Given the description of an element on the screen output the (x, y) to click on. 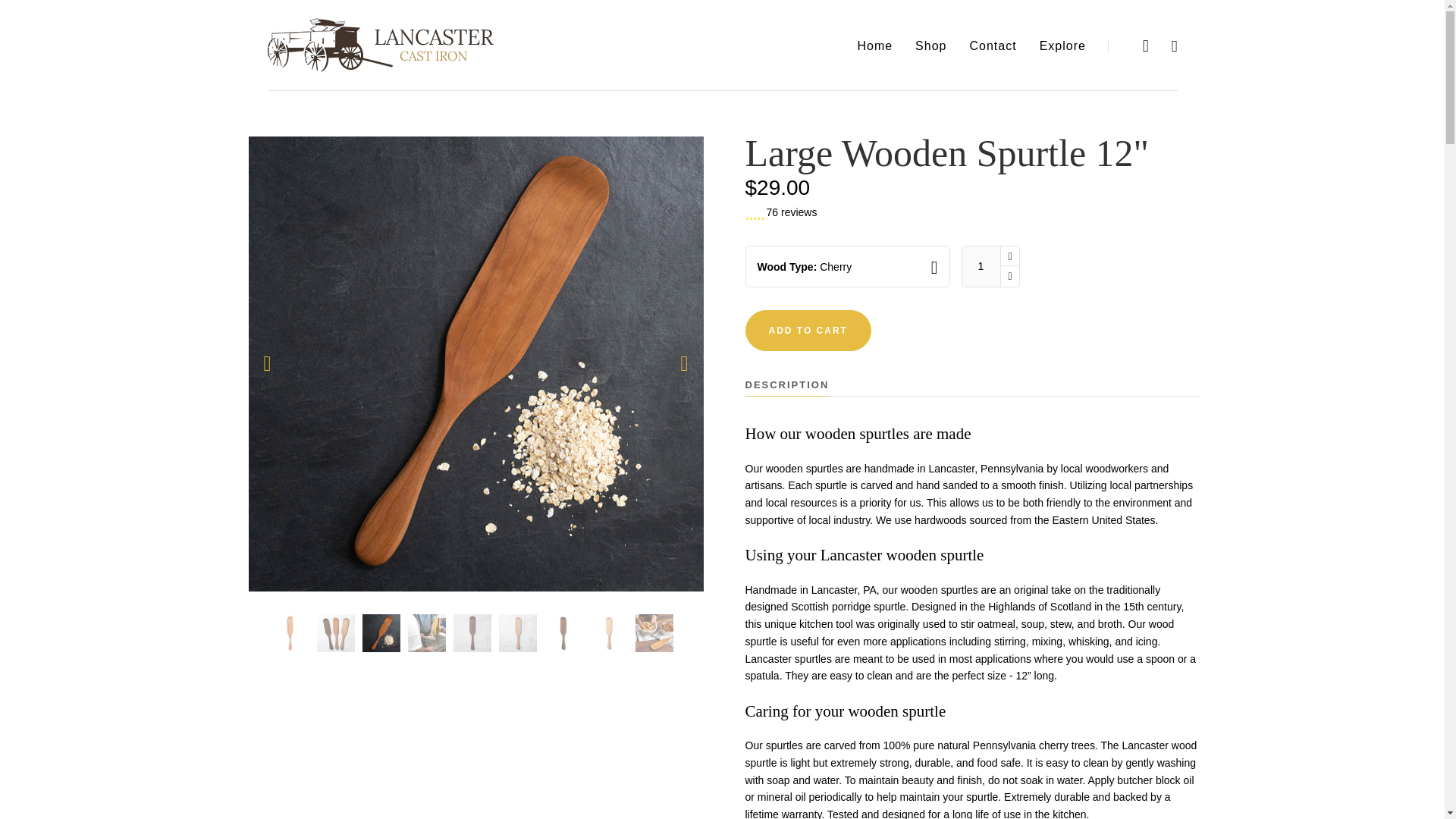
1 (979, 266)
Add to cart (807, 330)
Explore (1062, 46)
Home (874, 46)
Shop (930, 46)
Contact (992, 46)
